Given the description of an element on the screen output the (x, y) to click on. 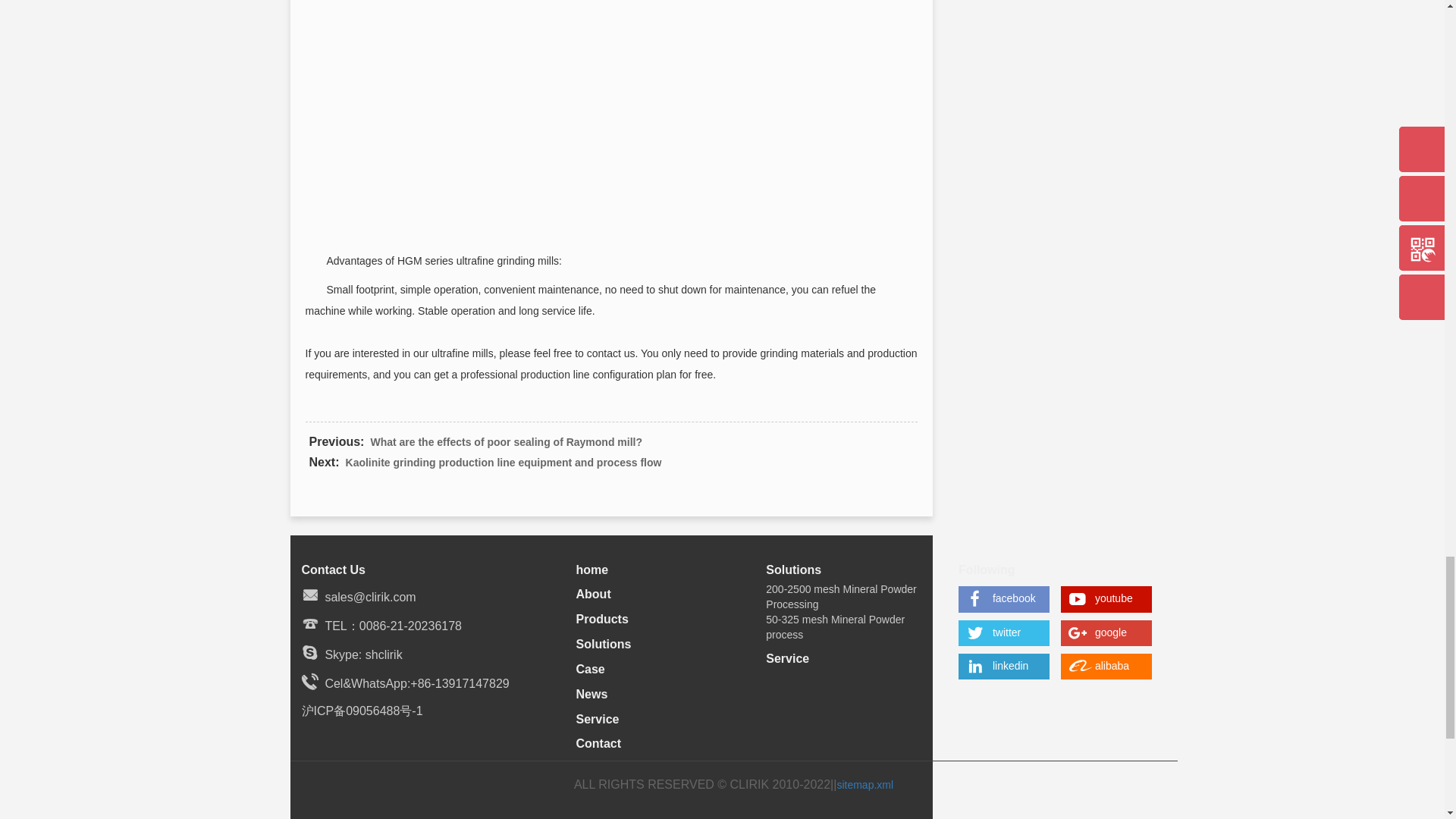
Contact Us (333, 568)
Products (602, 618)
YouTube video player (611, 115)
What are the effects of poor sealing of Raymond mill? (505, 440)
About (593, 594)
home (592, 568)
